Given the description of an element on the screen output the (x, y) to click on. 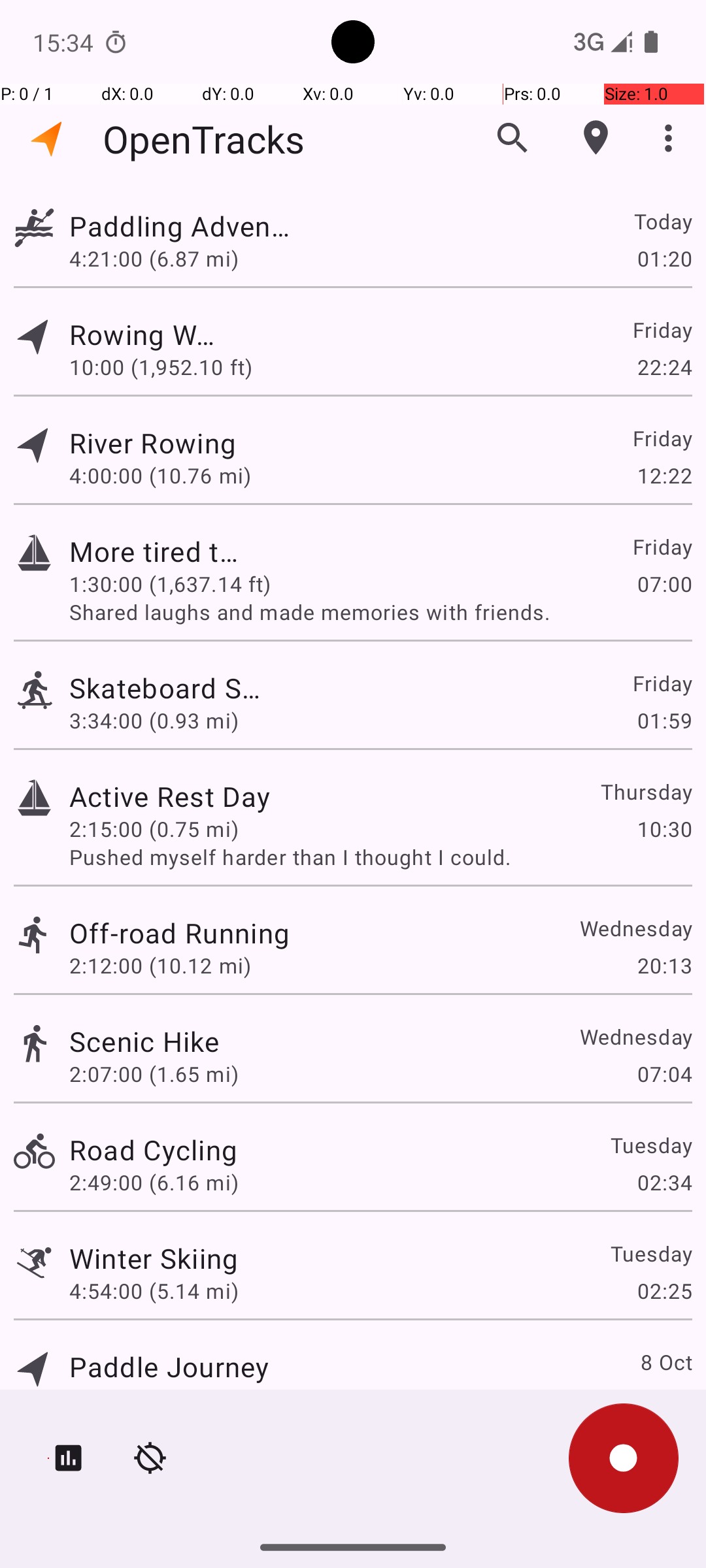
Paddling Adventure Element type: android.widget.TextView (179, 225)
4:21:00 (6.87 mi) Element type: android.widget.TextView (159, 258)
01:20 Element type: android.widget.TextView (664, 258)
Rowing Workout Element type: android.widget.TextView (144, 333)
10:00 (1,952.10 ft) Element type: android.widget.TextView (160, 366)
22:24 Element type: android.widget.TextView (664, 366)
River Rowing Element type: android.widget.TextView (152, 442)
4:00:00 (10.76 mi) Element type: android.widget.TextView (159, 475)
12:22 Element type: android.widget.TextView (664, 475)
More tired than usual today Element type: android.widget.TextView (153, 550)
1:30:00 (1,637.14 ft) Element type: android.widget.TextView (169, 583)
Shared laughs and made memories with friends. Element type: android.widget.TextView (380, 611)
Skateboard Session Element type: android.widget.TextView (168, 687)
3:34:00 (0.93 mi) Element type: android.widget.TextView (153, 720)
01:59 Element type: android.widget.TextView (664, 720)
Active Rest Day Element type: android.widget.TextView (169, 795)
2:15:00 (0.75 mi) Element type: android.widget.TextView (153, 828)
10:30 Element type: android.widget.TextView (664, 828)
Pushed myself harder than I thought I could. Element type: android.widget.TextView (380, 856)
Off-road Running Element type: android.widget.TextView (179, 932)
2:12:00 (10.12 mi) Element type: android.widget.TextView (159, 965)
20:13 Element type: android.widget.TextView (664, 965)
Scenic Hike Element type: android.widget.TextView (144, 1040)
2:07:00 (1.65 mi) Element type: android.widget.TextView (153, 1073)
07:04 Element type: android.widget.TextView (664, 1073)
Road Cycling Element type: android.widget.TextView (152, 1149)
2:49:00 (6.16 mi) Element type: android.widget.TextView (153, 1182)
02:34 Element type: android.widget.TextView (664, 1182)
Winter Skiing Element type: android.widget.TextView (153, 1257)
4:54:00 (5.14 mi) Element type: android.widget.TextView (153, 1290)
02:25 Element type: android.widget.TextView (664, 1290)
Paddle Journey Element type: android.widget.TextView (168, 1366)
4:34:00 (4.41 mi) Element type: android.widget.TextView (153, 1399)
23:56 Element type: android.widget.TextView (664, 1399)
